Given the description of an element on the screen output the (x, y) to click on. 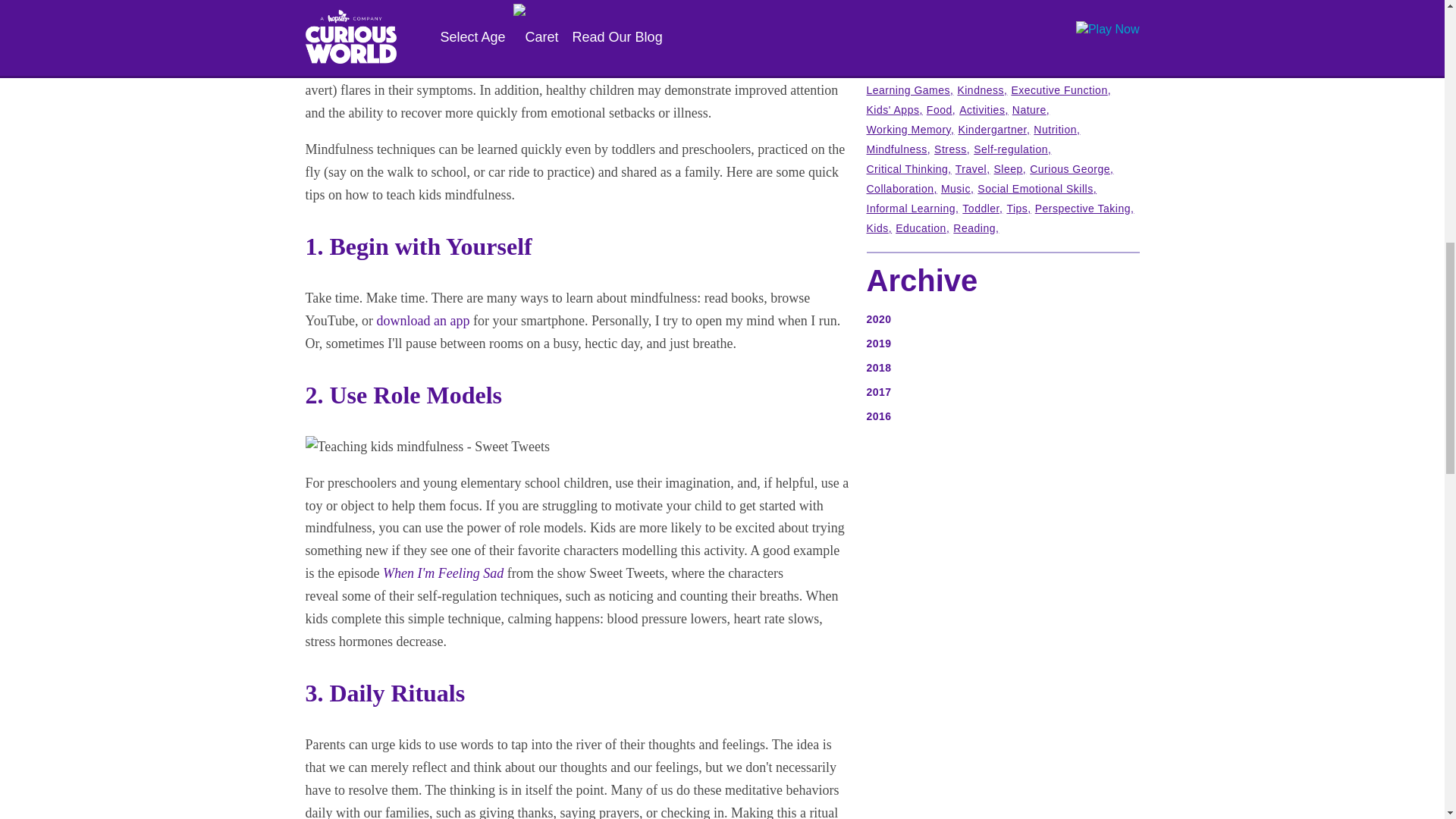
an app (450, 320)
When I'm Feeling Sad (442, 572)
download  (405, 320)
